Given the description of an element on the screen output the (x, y) to click on. 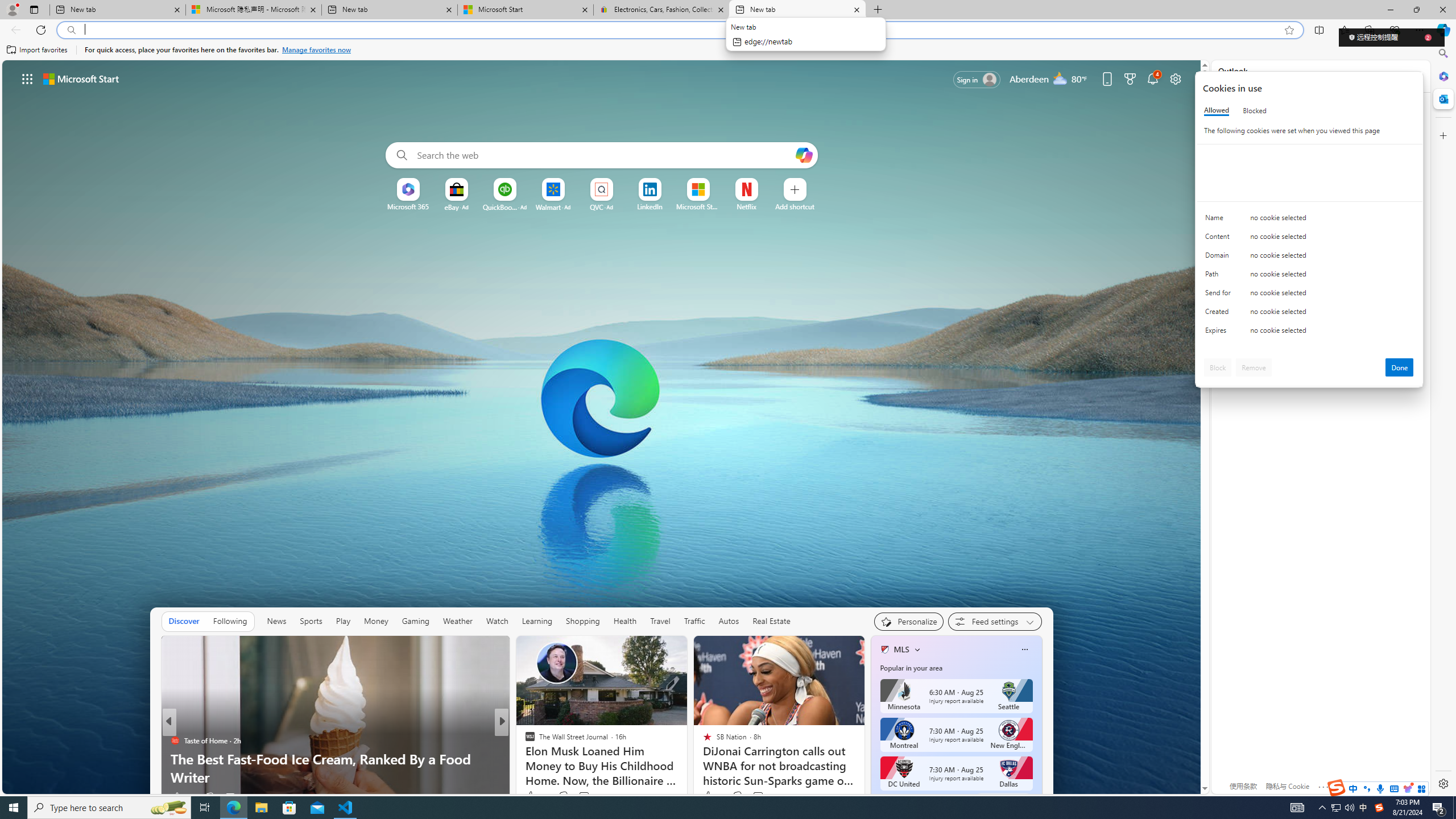
Play (342, 621)
View comments 247 Comment (587, 796)
Travel (660, 621)
Page settings (1175, 78)
Manage favorites now (316, 49)
Unpin side pane (1383, 75)
Learning (536, 621)
ZDNet (524, 740)
Watch (497, 621)
Autos (729, 621)
Netflix (746, 206)
